Given the description of an element on the screen output the (x, y) to click on. 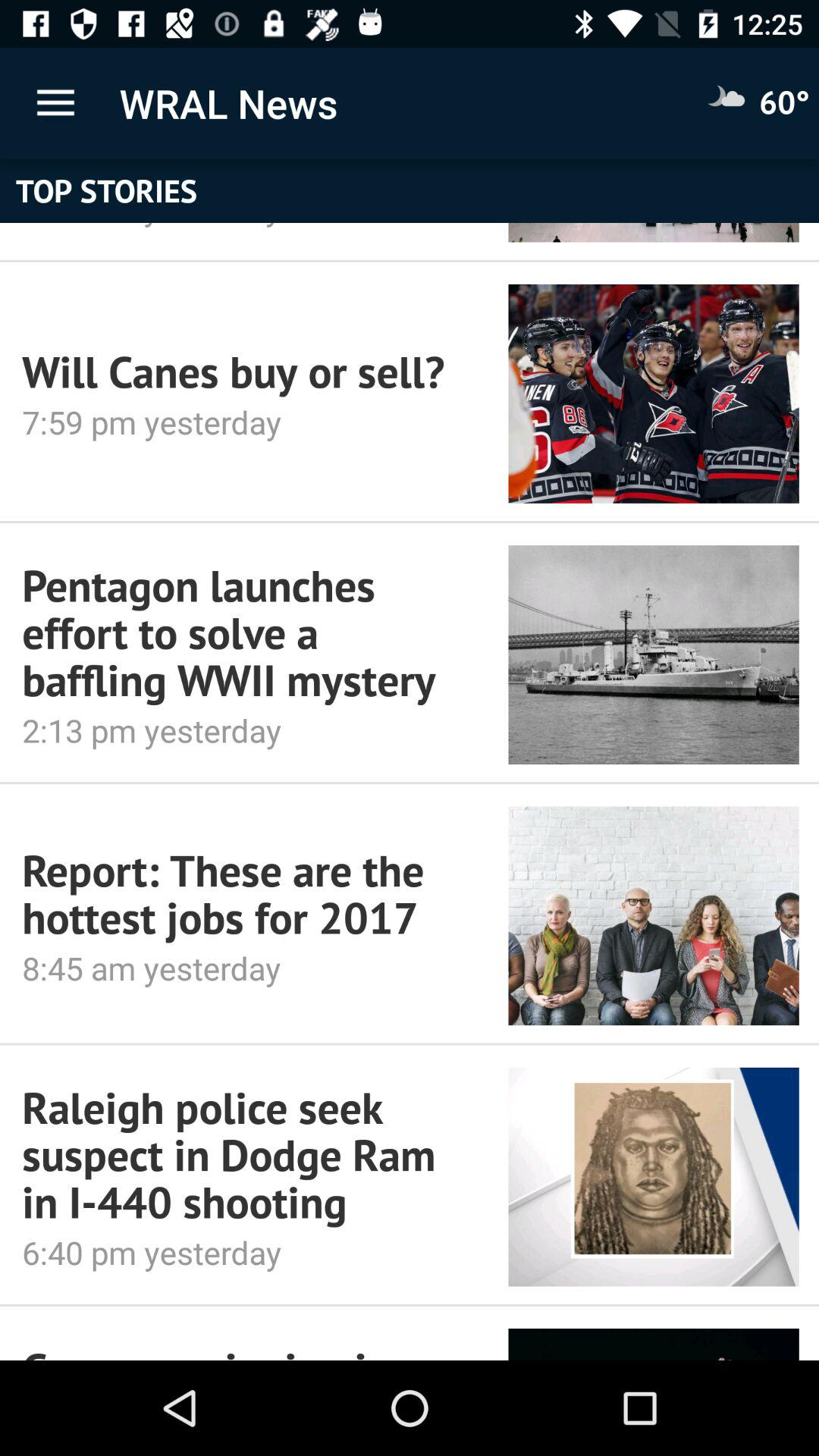
jump until the grammy winning jazz icon (244, 1350)
